Given the description of an element on the screen output the (x, y) to click on. 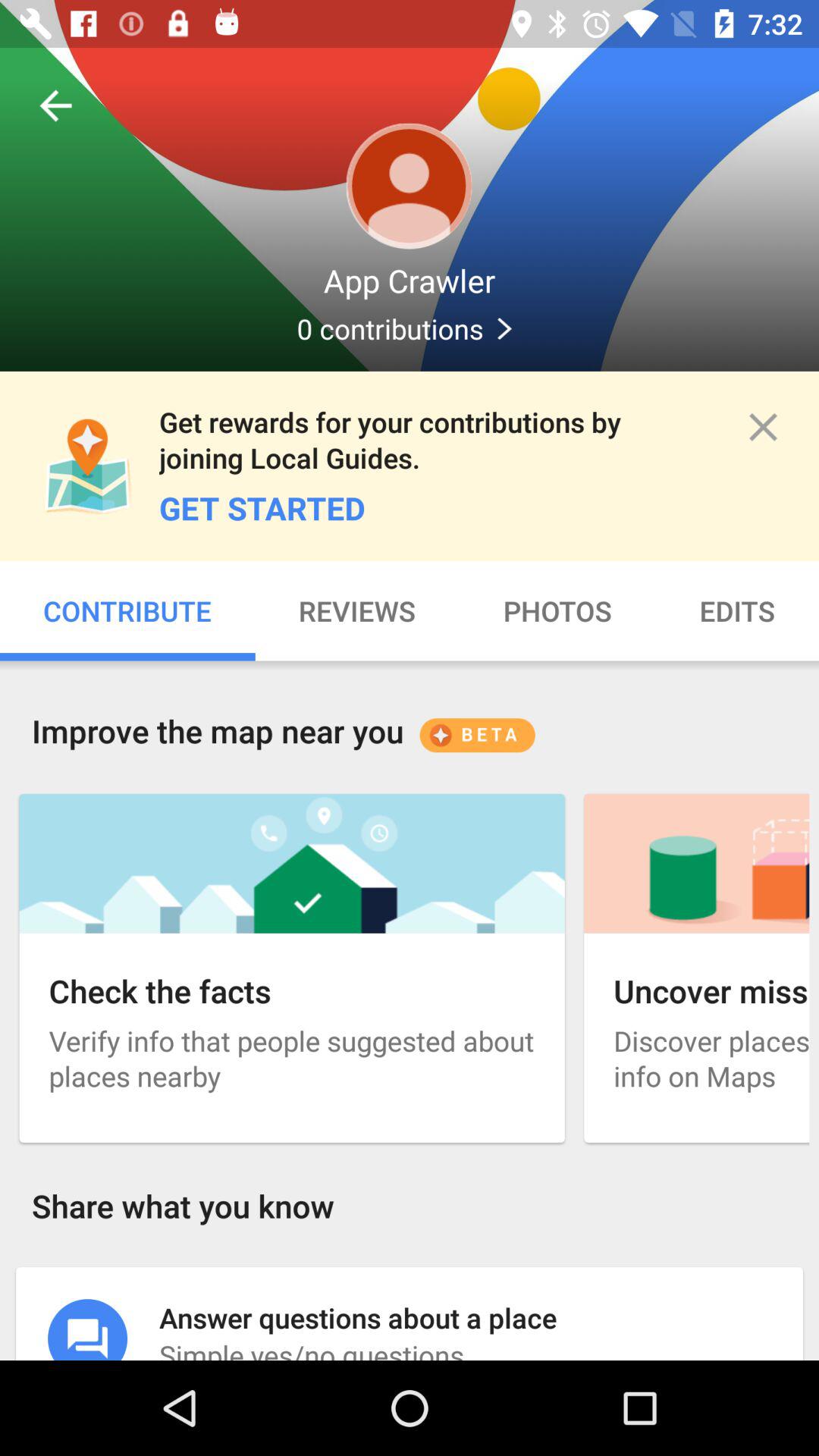
choose the photos item (557, 610)
